Given the description of an element on the screen output the (x, y) to click on. 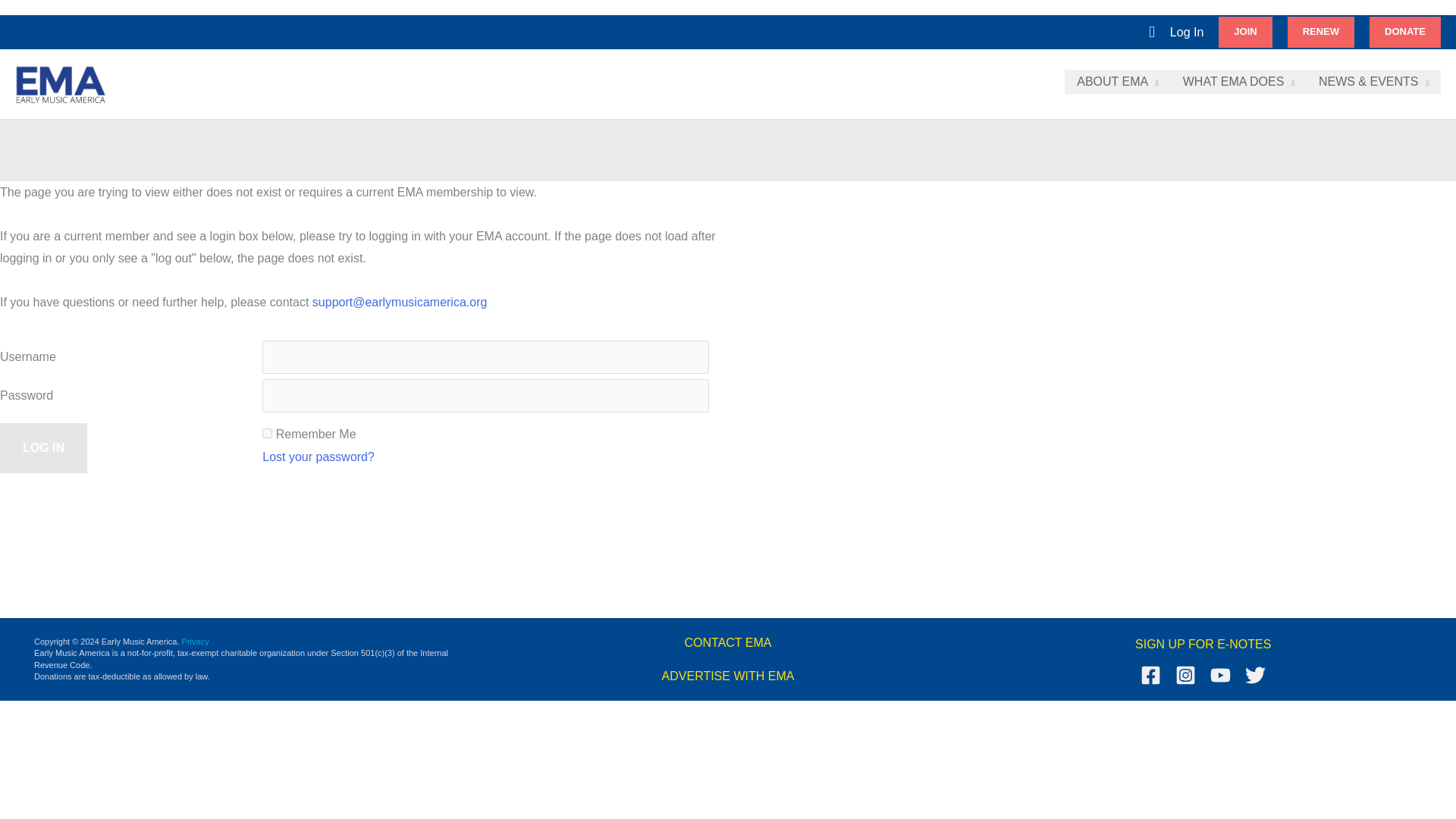
DONATE (1405, 31)
ABOUT EMA (1117, 81)
Log In (1187, 32)
forever (267, 433)
Password Lost and Found (318, 456)
Log In (43, 448)
RENEW (1320, 31)
JOIN (1244, 31)
